Given the description of an element on the screen output the (x, y) to click on. 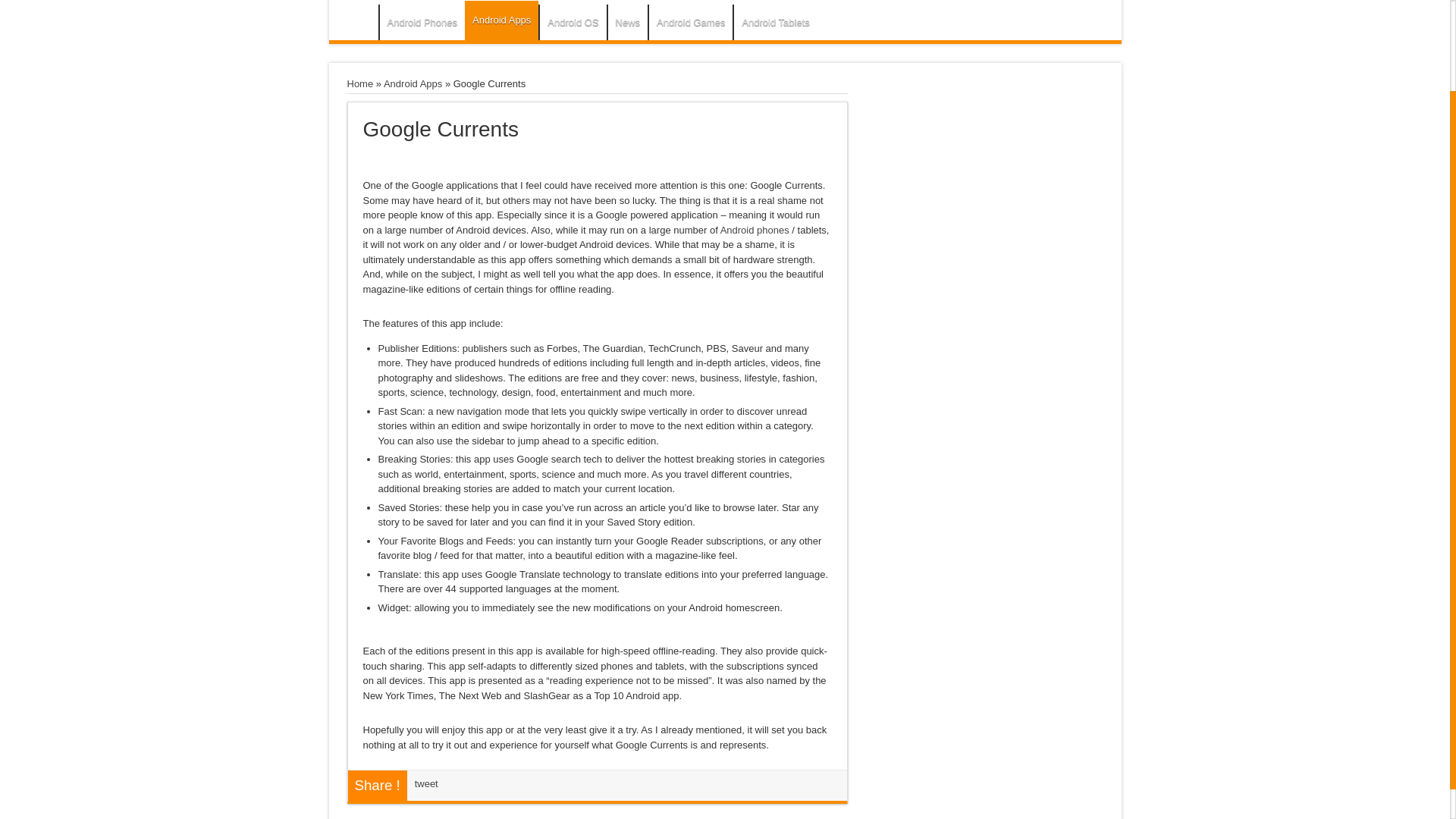
Home (360, 83)
Android Games (689, 22)
News (627, 22)
Android Tablets (774, 22)
Android Apps (413, 83)
Home (357, 24)
Android Phones (421, 22)
tweet (426, 783)
Android Apps (501, 20)
Android OS (571, 22)
Android phones (754, 229)
